Given the description of an element on the screen output the (x, y) to click on. 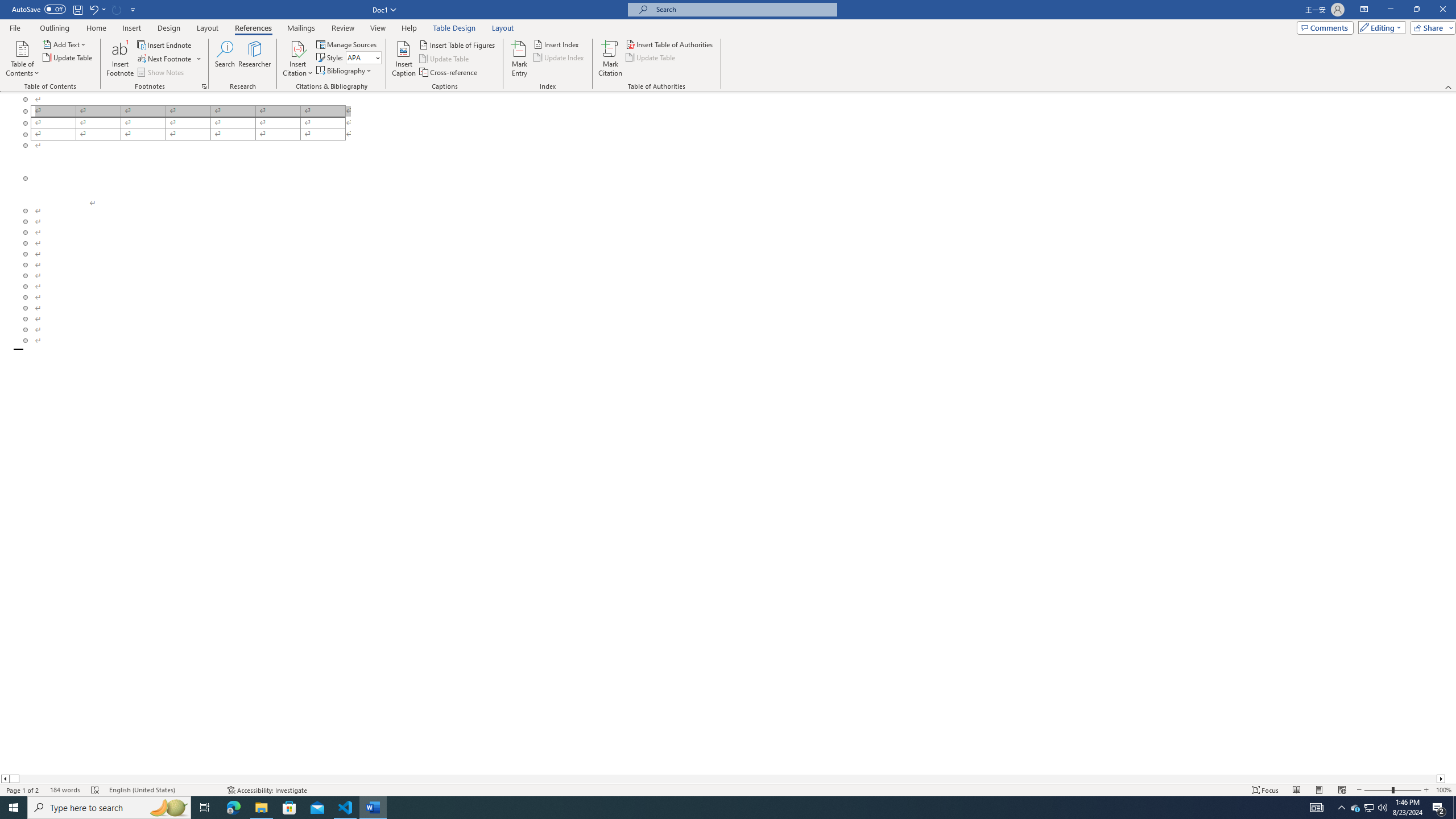
Style (363, 56)
Column right (1441, 778)
Style (360, 57)
Cross-reference... (448, 72)
Insert Table of Authorities... (670, 44)
Next Footnote (169, 58)
Outlining (54, 28)
Insert Footnote (119, 58)
